Given the description of an element on the screen output the (x, y) to click on. 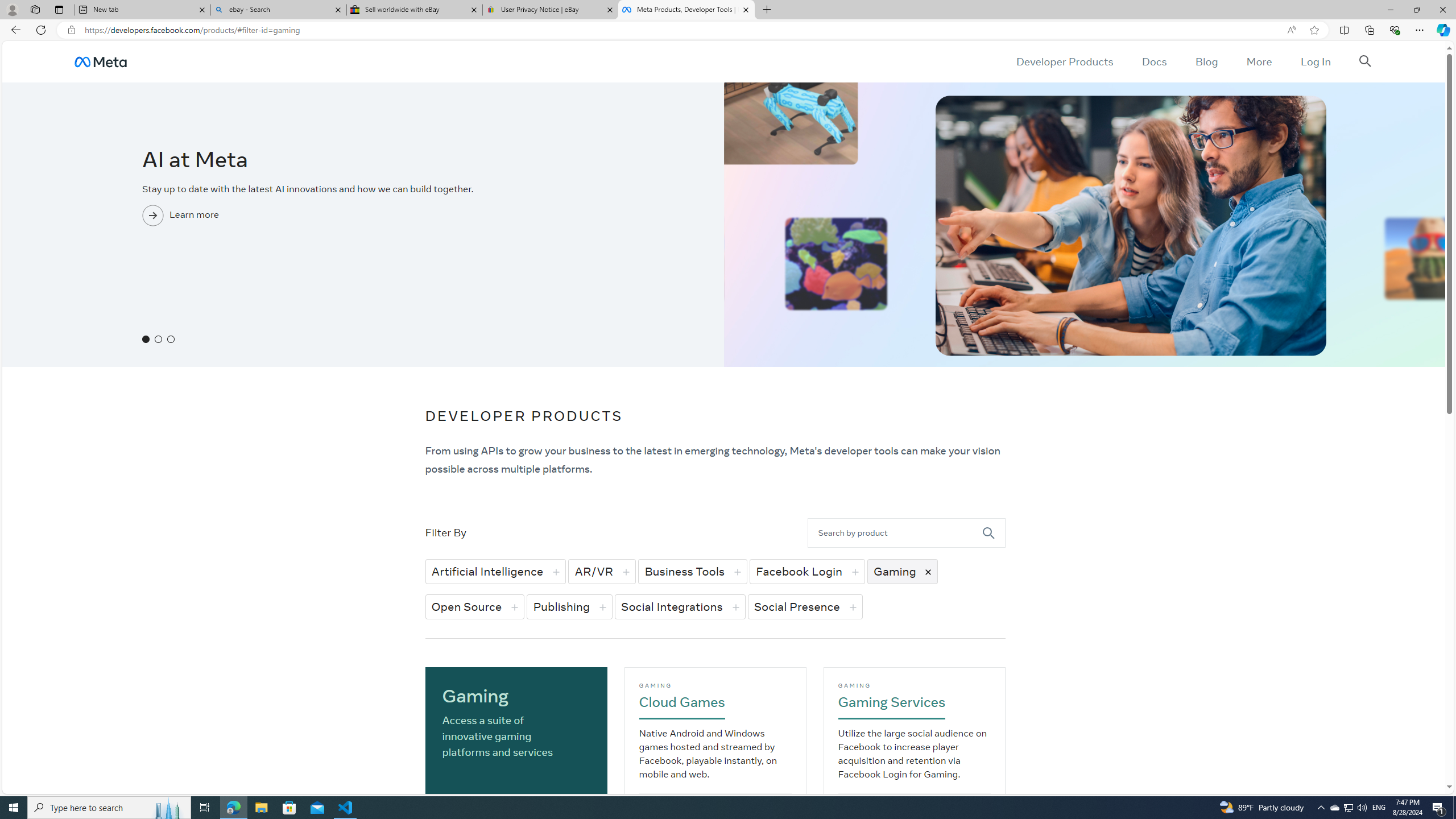
Business Tools (691, 571)
Log In (1315, 61)
Social Presence (804, 606)
Developer Products (1064, 61)
Docs (1153, 61)
Social Integrations (679, 606)
Search by product (895, 532)
